Given the description of an element on the screen output the (x, y) to click on. 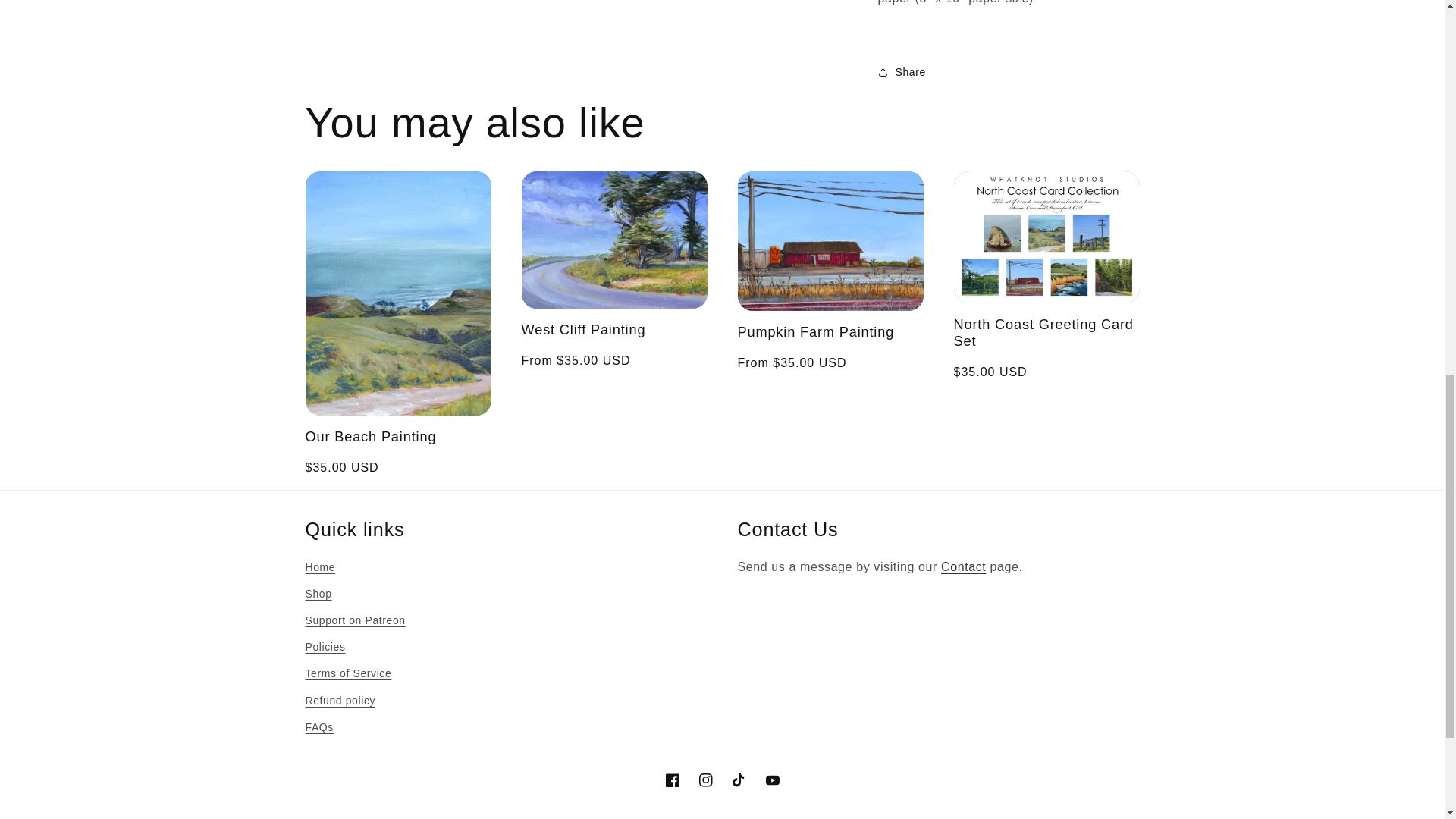
Contact (962, 566)
